Given the description of an element on the screen output the (x, y) to click on. 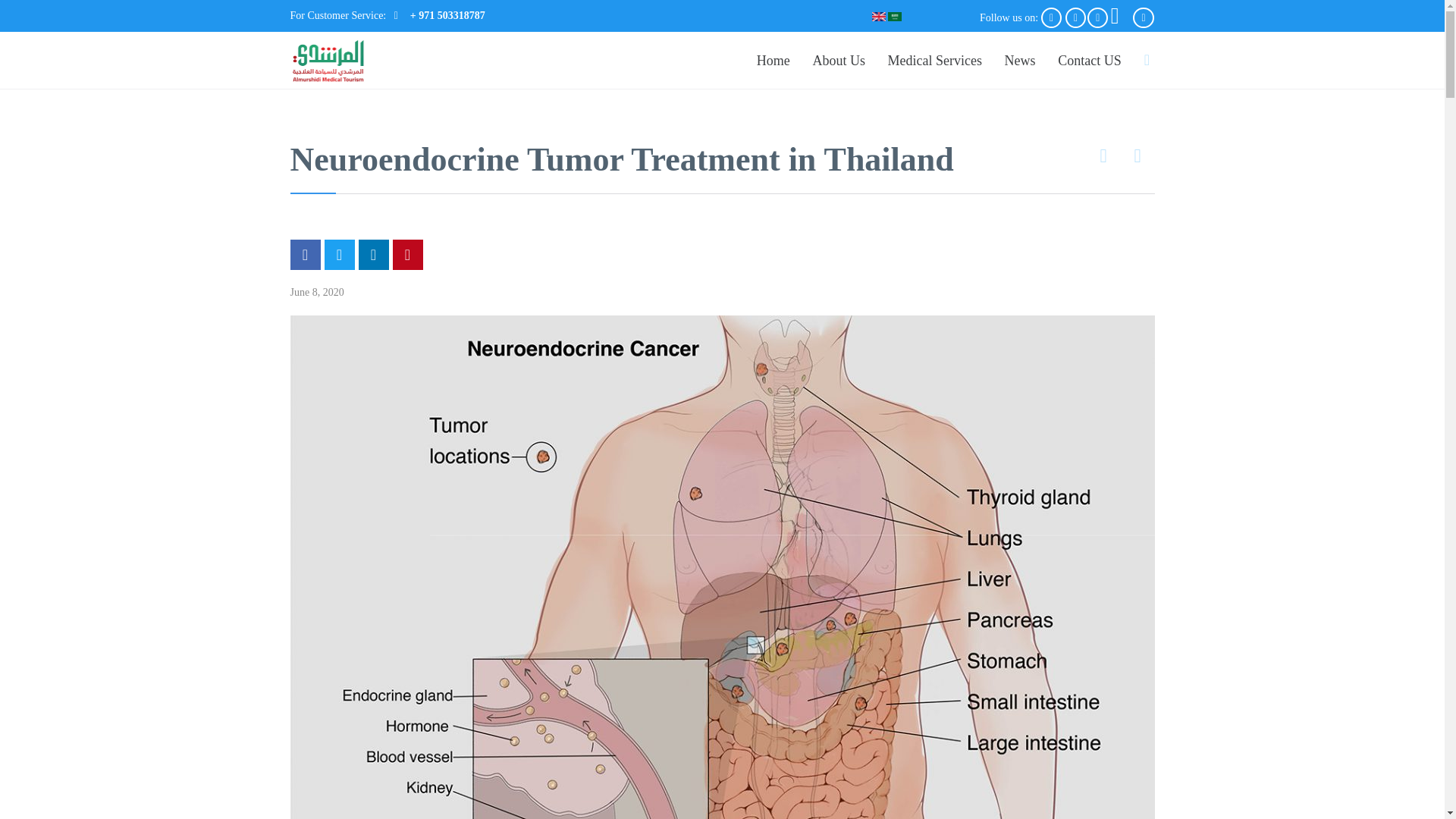
About Us (839, 61)
Medical Services (934, 61)
News (1019, 61)
Home (772, 61)
Contact US (1089, 61)
